Given the description of an element on the screen output the (x, y) to click on. 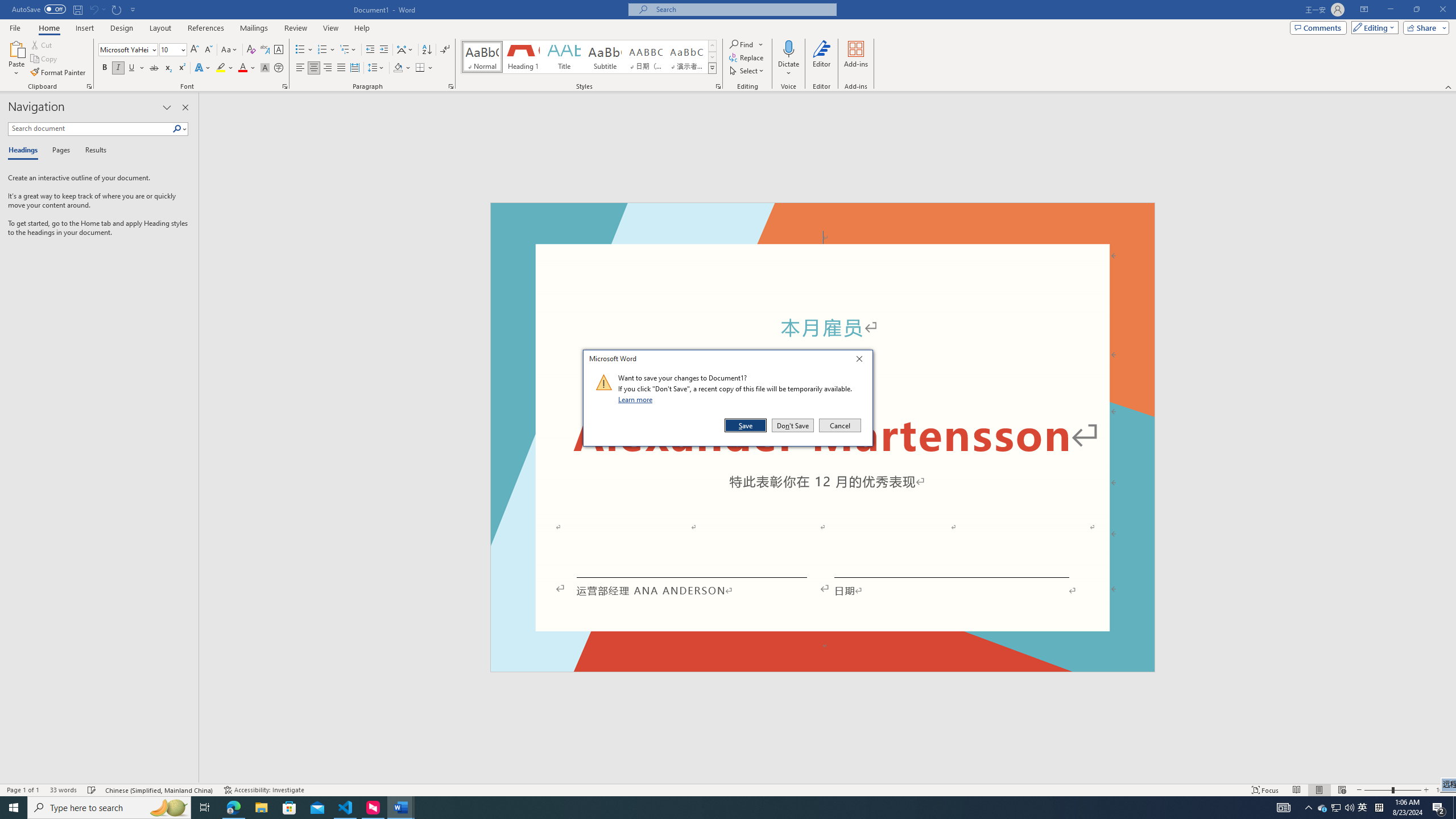
Align Right (327, 67)
Font... (285, 85)
Line and Paragraph Spacing (376, 67)
Styles... (717, 85)
Word - 2 running windows (400, 807)
Heading 1 (522, 56)
Running applications (700, 807)
Spelling and Grammar Check Checking (91, 790)
Grow Font (193, 49)
Language Chinese (Simplified, Mainland China) (159, 790)
